Given the description of an element on the screen output the (x, y) to click on. 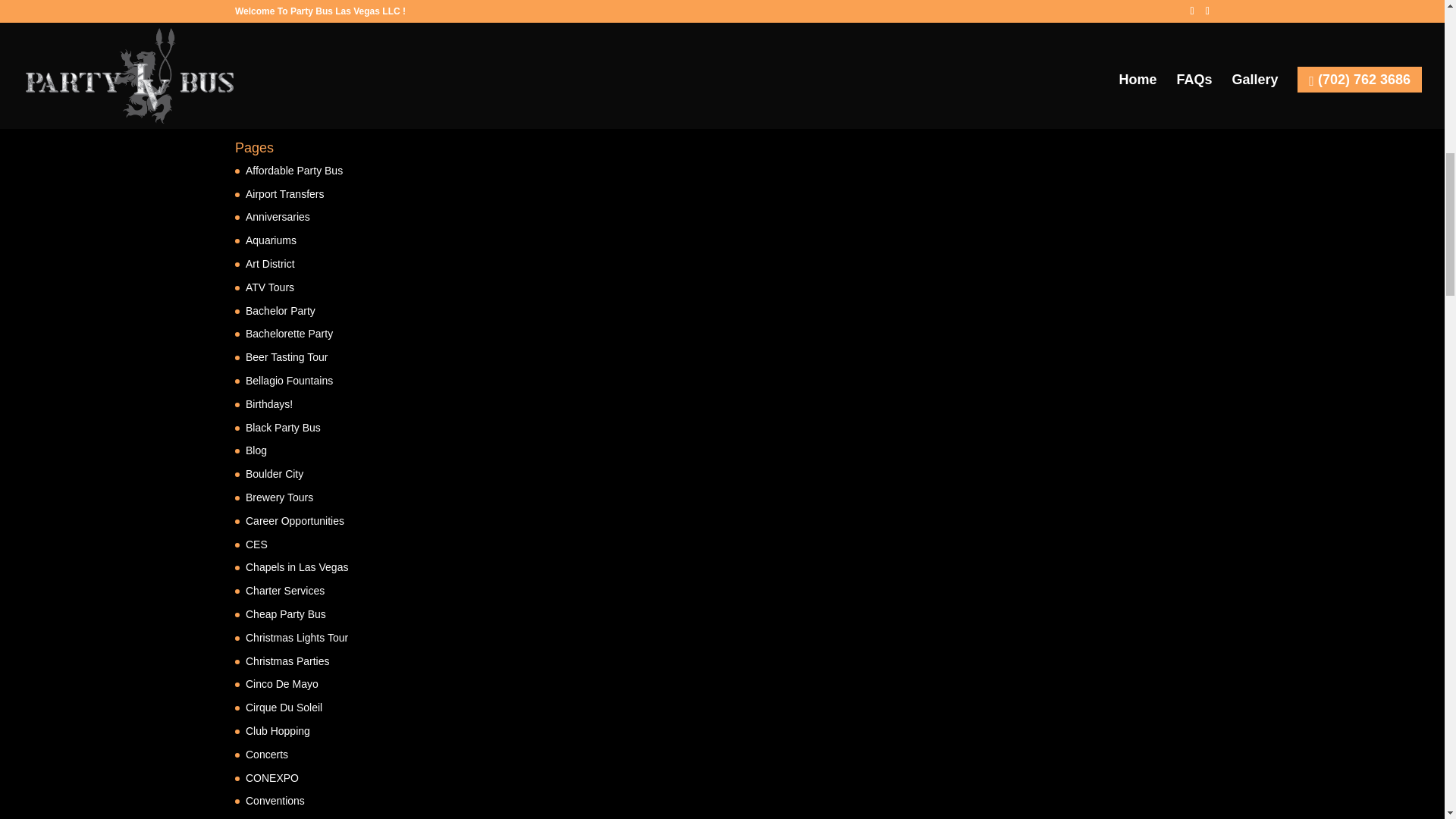
Bachelorette Party (289, 333)
Bachelor Party (280, 310)
Birthdays! (269, 404)
Beer Tasting Tour (286, 357)
Affordable Party Bus (294, 170)
Art District (270, 263)
Bellagio Fountains (289, 380)
Christmas Parties (287, 661)
Christmas Lights Tour (296, 637)
Blog (256, 450)
Chapels in Las Vegas (296, 567)
Boulder City (274, 473)
CES (256, 544)
Anniversaries (278, 216)
Brewery Tours (279, 497)
